Given the description of an element on the screen output the (x, y) to click on. 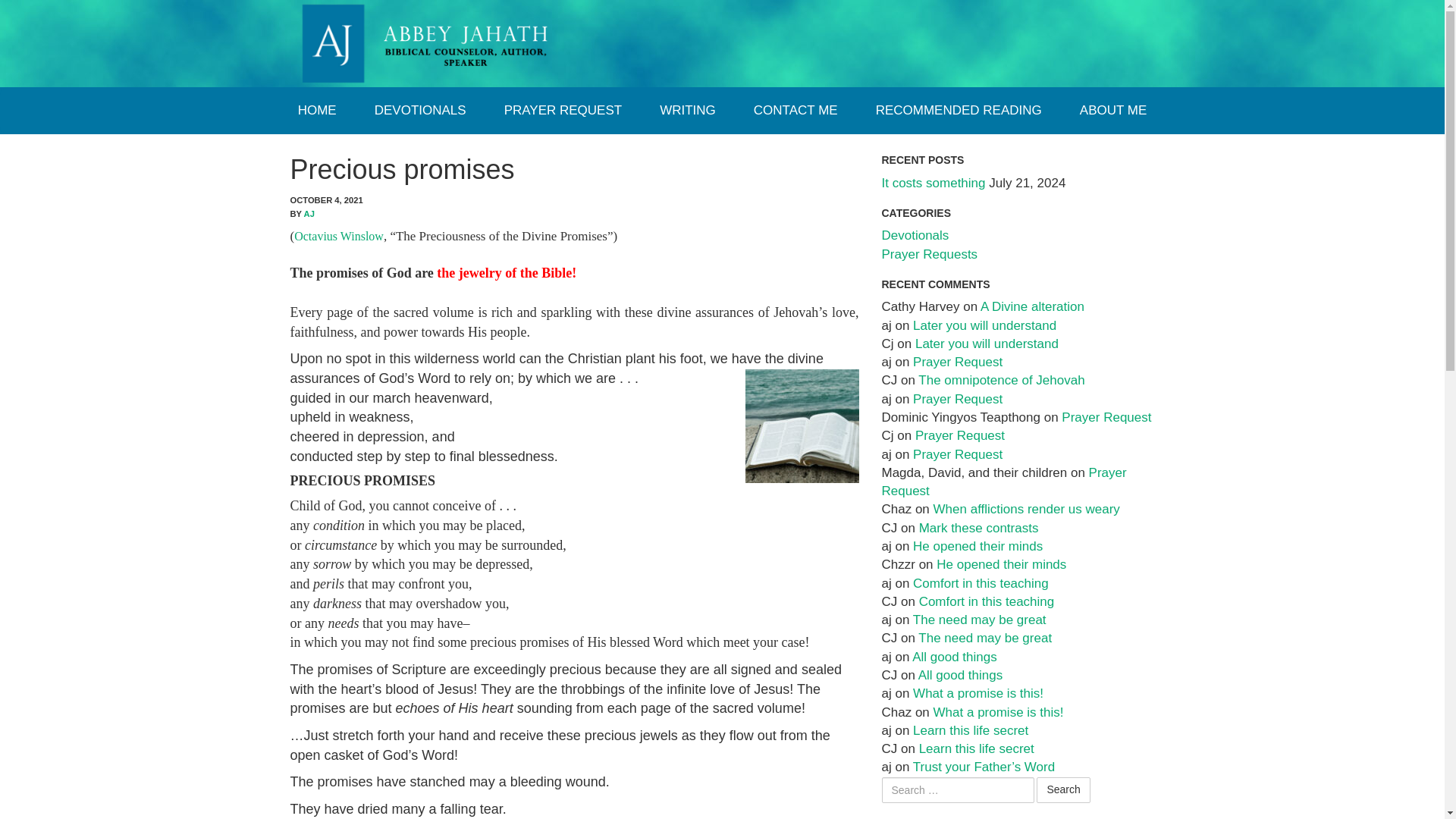
Search (1062, 790)
WRITING (686, 110)
Comfort in this teaching (980, 583)
What a promise is this! (998, 712)
Devotionals (914, 235)
He opened their minds (977, 545)
Prayer Request (1002, 481)
Comfort in this teaching (986, 601)
AJ (309, 213)
CONTACT ME (795, 110)
Search (1062, 790)
PRAYER REQUEST (563, 110)
Prayer Request (959, 435)
The need may be great (979, 619)
When afflictions render us weary (1026, 509)
